Given the description of an element on the screen output the (x, y) to click on. 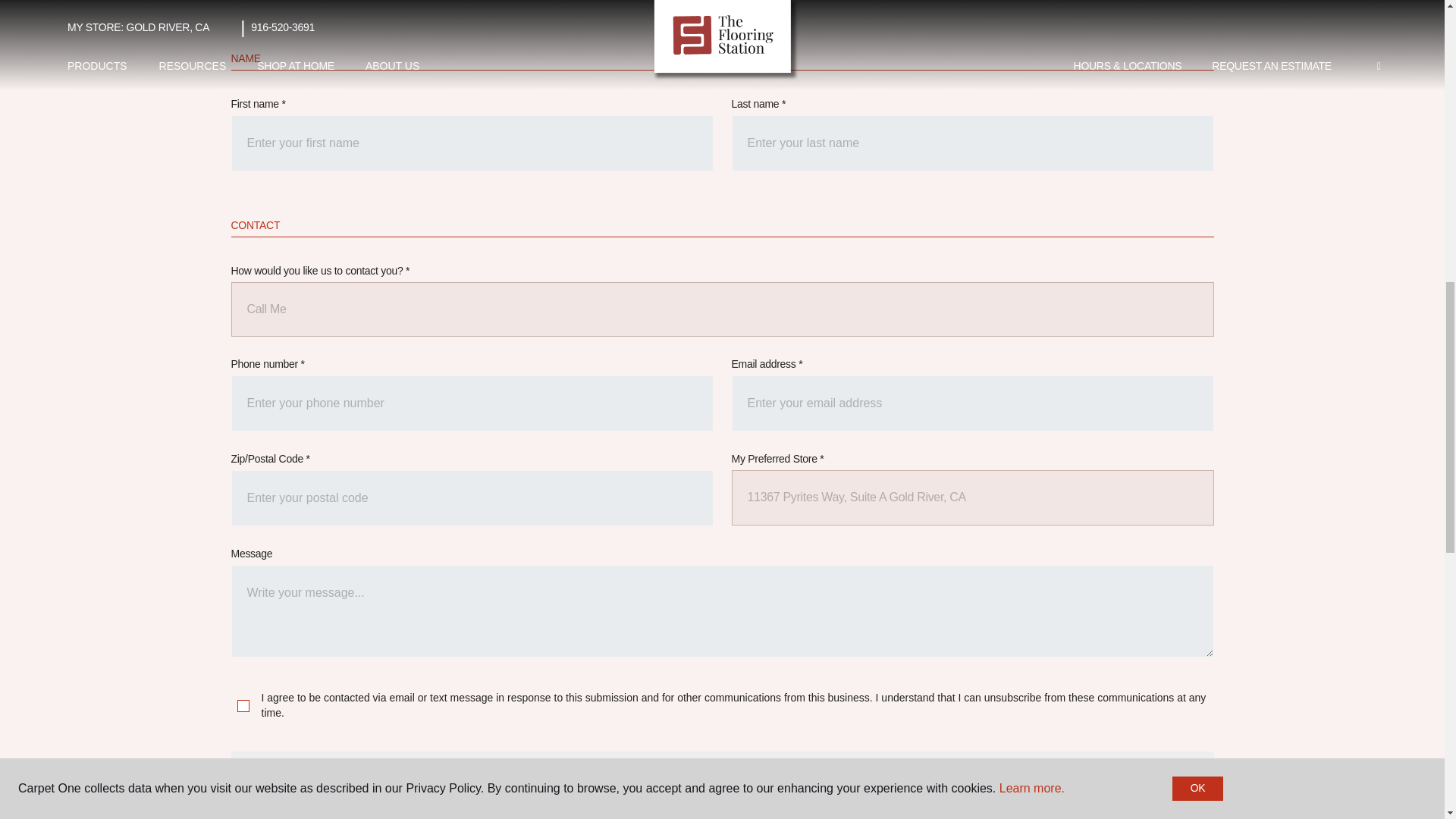
LastName (971, 143)
EmailAddress (971, 403)
FirstName (471, 143)
CleanHomePhone (471, 403)
MyMessage (721, 611)
PostalCode (471, 498)
